Given the description of an element on the screen output the (x, y) to click on. 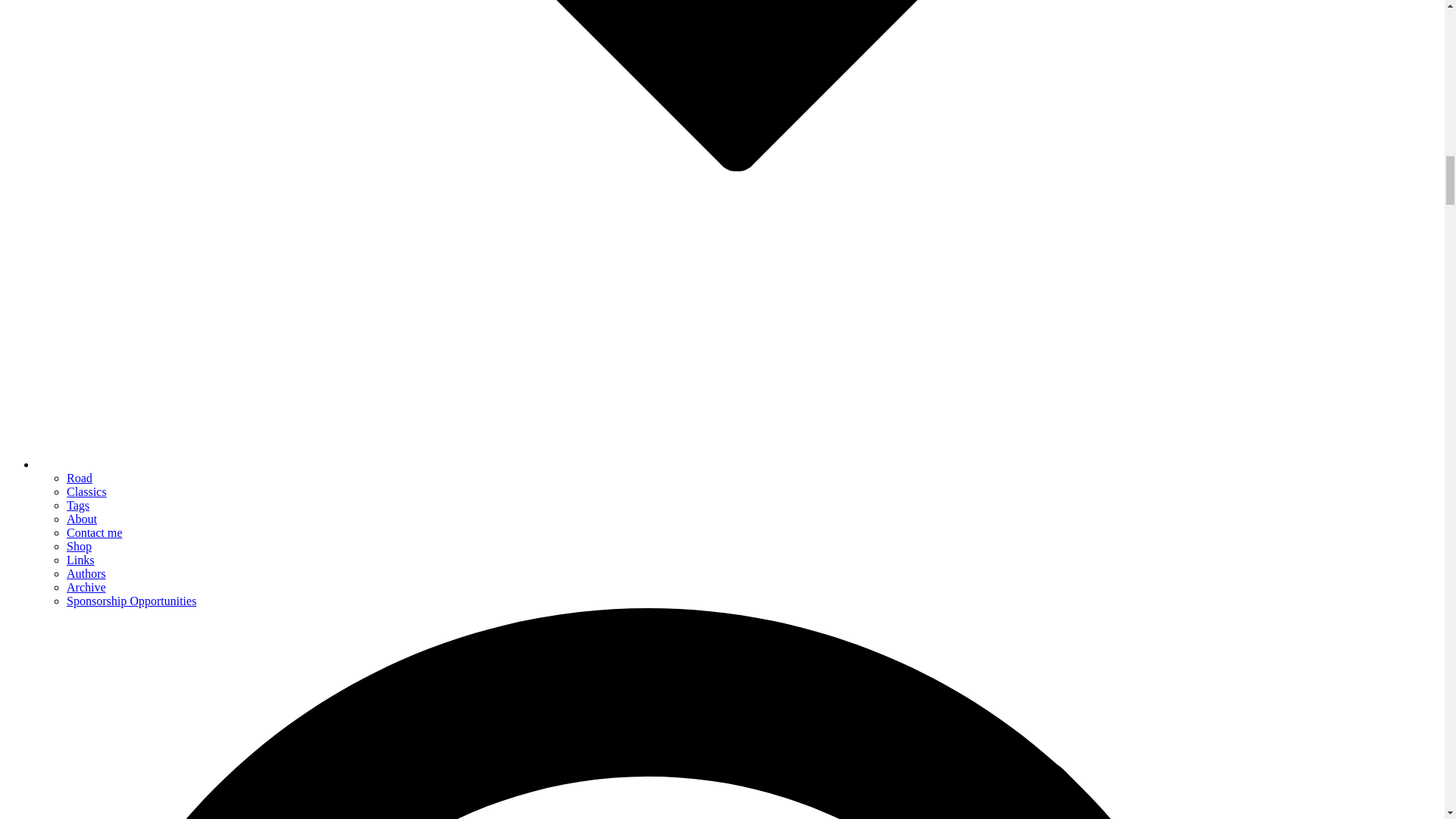
Contact me (94, 532)
Tags (77, 504)
Authors (86, 573)
About (81, 518)
Road (79, 477)
Classics (86, 491)
Shop (78, 545)
Archive (86, 586)
Links (80, 559)
Sponsorship Opportunities (131, 600)
